Given the description of an element on the screen output the (x, y) to click on. 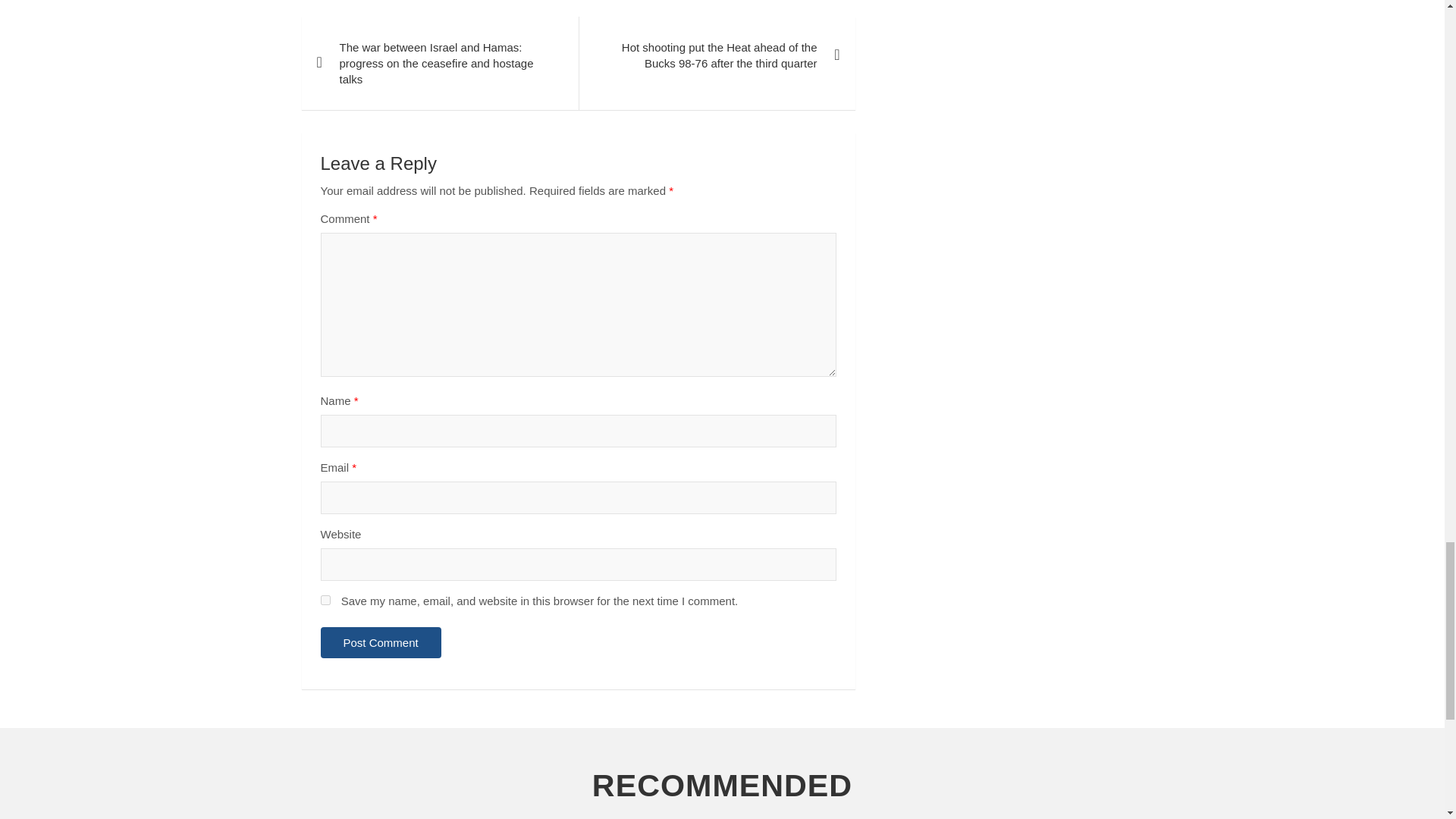
yes (325, 600)
Post Comment (380, 642)
Post Comment (380, 642)
